Given the description of an element on the screen output the (x, y) to click on. 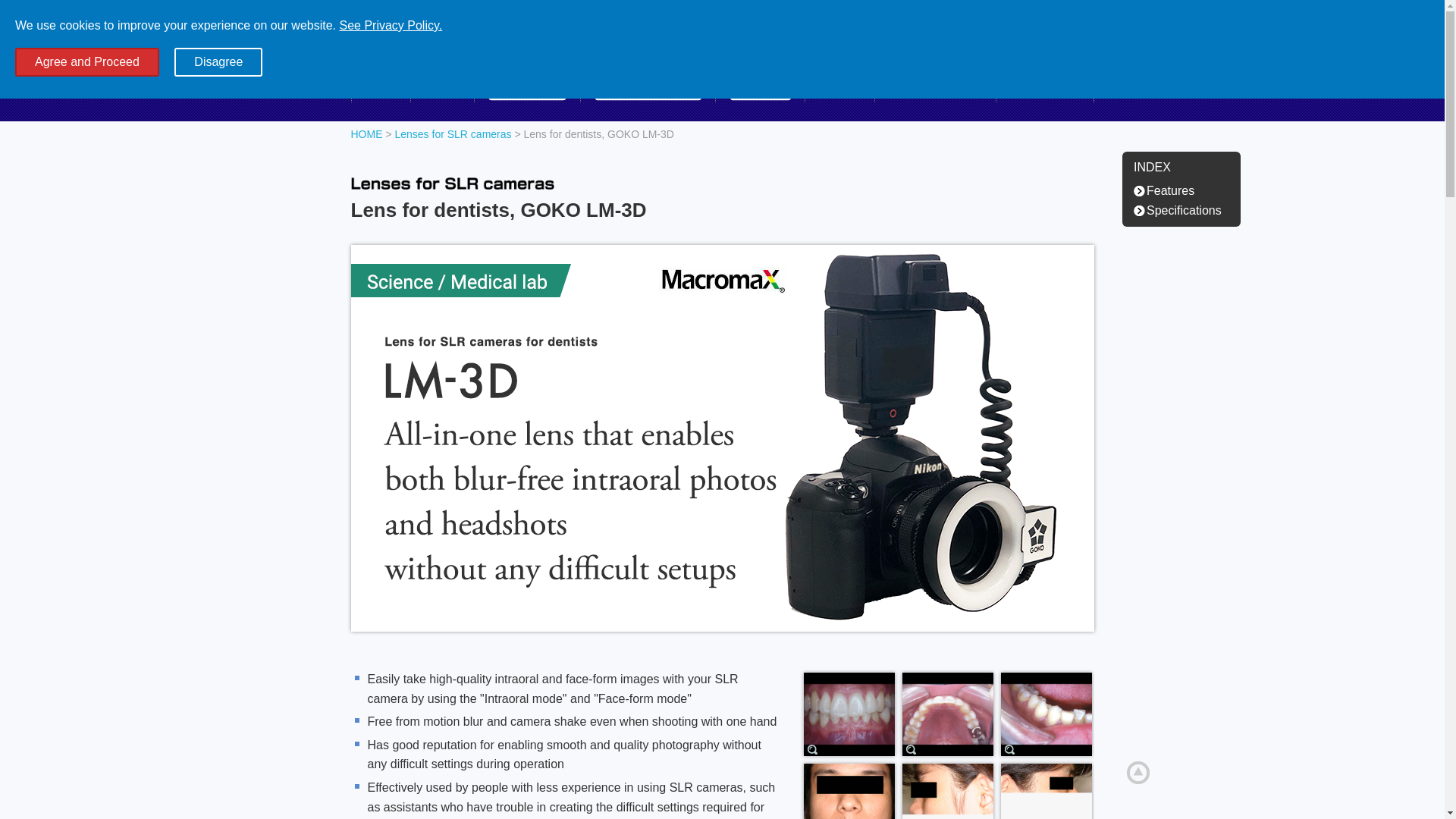
Site Search (994, 52)
Features (1168, 190)
Specifications (1181, 210)
HOME (365, 133)
Lenses for SLR cameras (452, 133)
Site Search (994, 52)
